Given the description of an element on the screen output the (x, y) to click on. 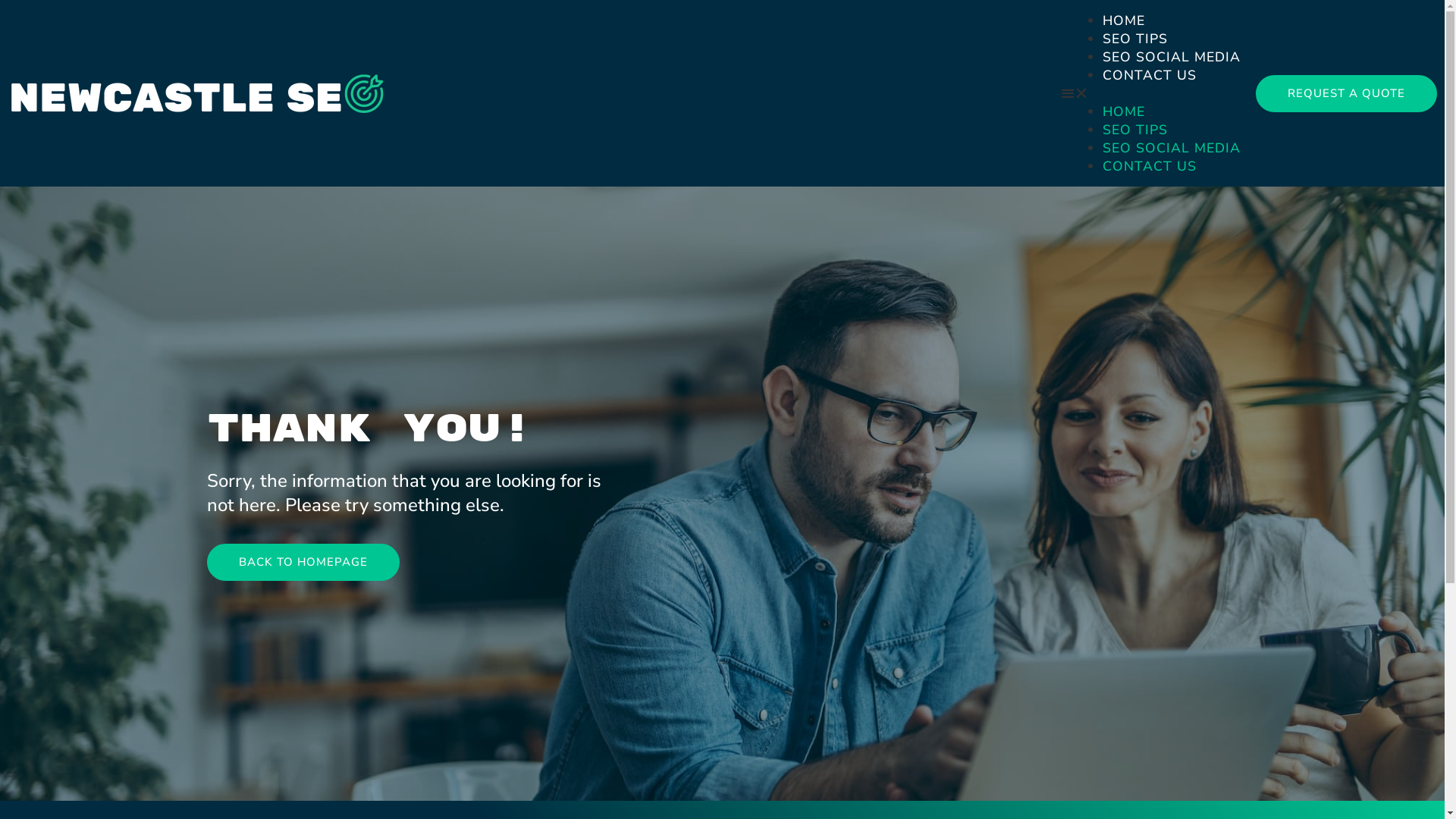
SEO TIPS Element type: text (1134, 129)
CONTACT US Element type: text (1149, 165)
BACK TO HOMEPAGE Element type: text (302, 561)
HOME Element type: text (1123, 111)
SEO TIPS Element type: text (1134, 38)
REQUEST A QUOTE Element type: text (1346, 92)
SEO SOCIAL MEDIA Element type: text (1171, 147)
SEO SOCIAL MEDIA Element type: text (1171, 56)
HOME Element type: text (1123, 20)
CONTACT US Element type: text (1149, 74)
